Given the description of an element on the screen output the (x, y) to click on. 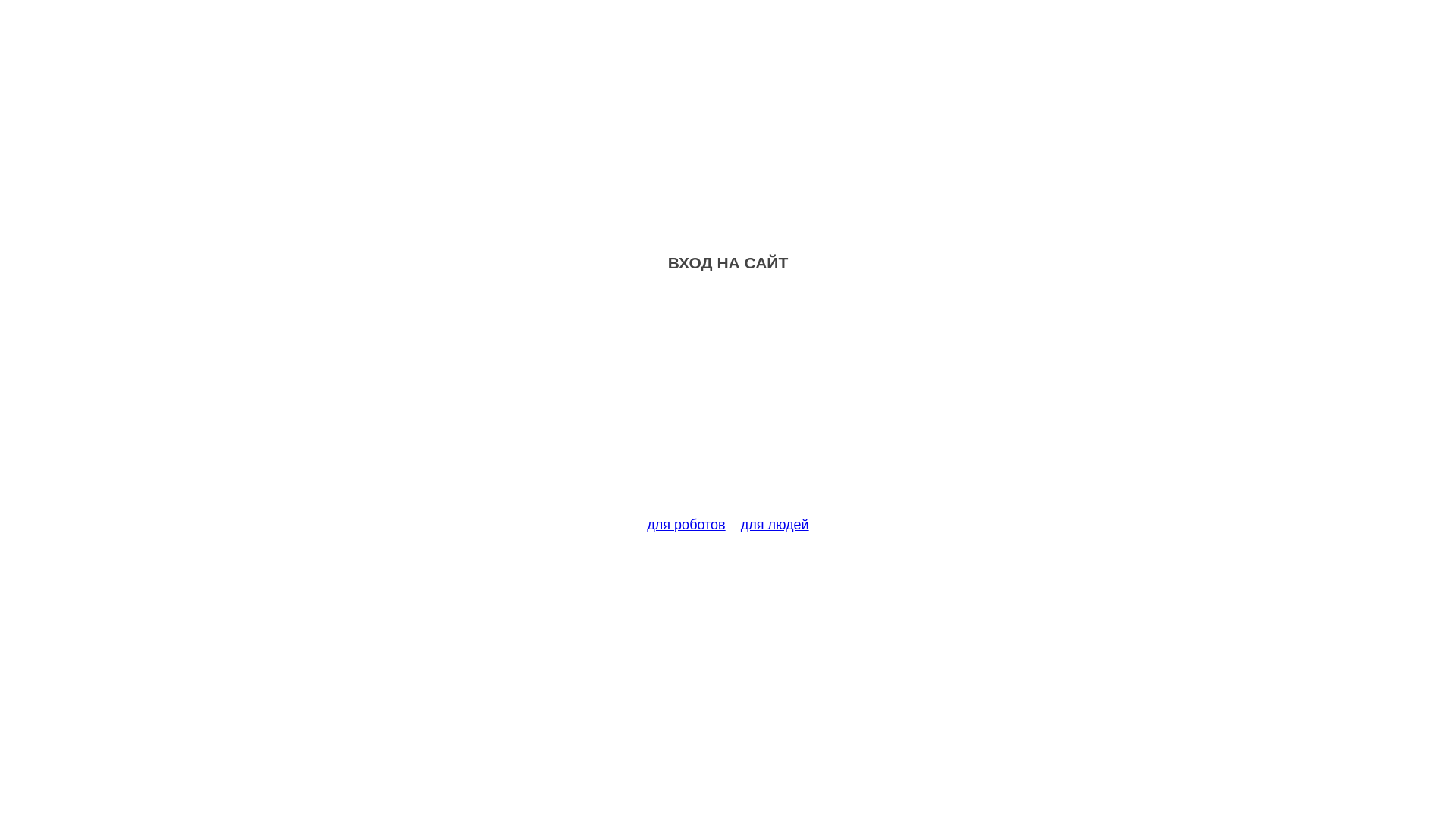
Advertisement Element type: hover (727, 403)
